Given the description of an element on the screen output the (x, y) to click on. 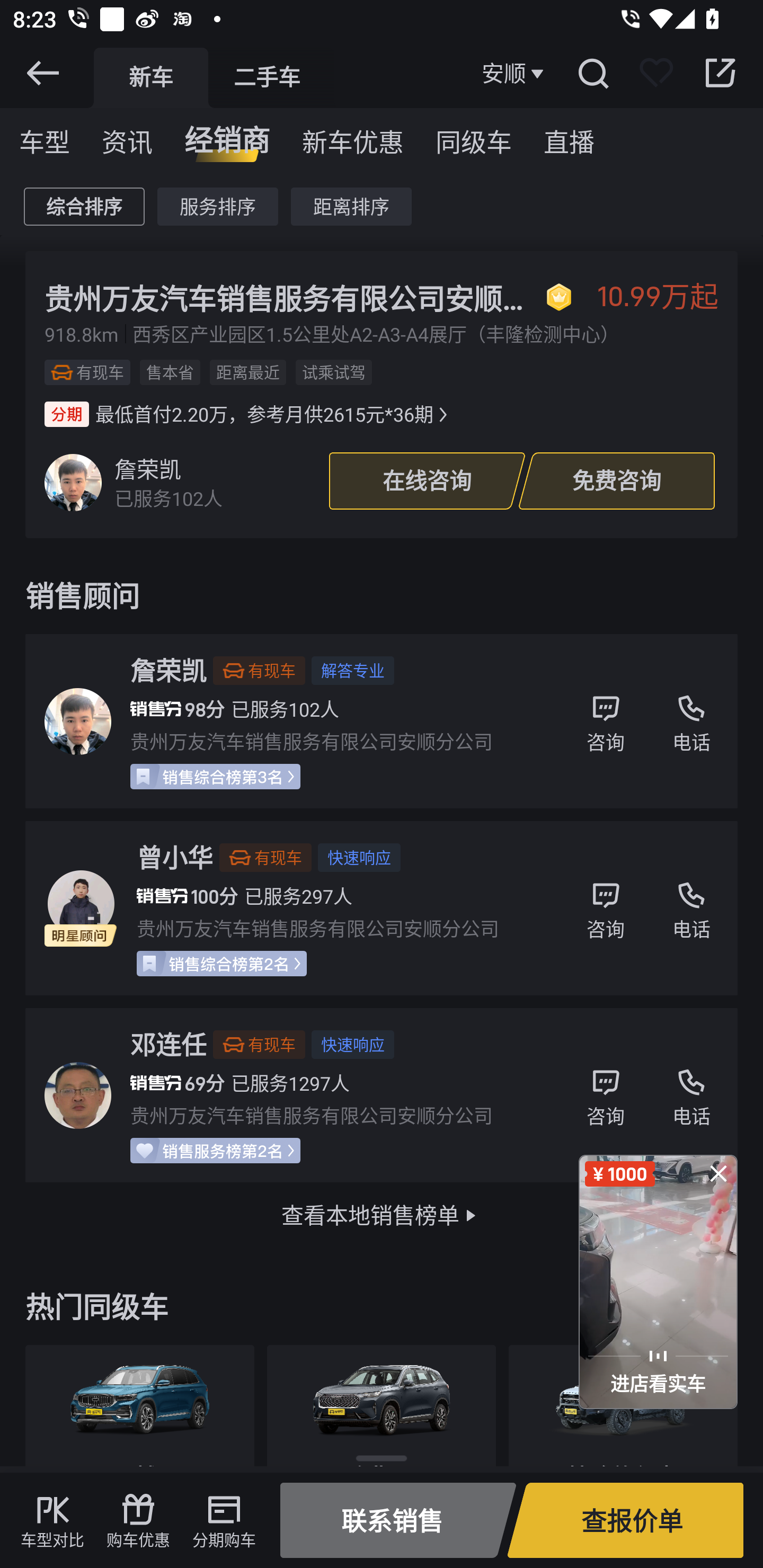
新车 (150, 77)
二手车 (266, 77)
 (42, 72)
 (592, 72)
 (720, 72)
安顺 (514, 73)
车型 (44, 135)
资讯 (126, 135)
经销商 (227, 135)
新车优惠 (352, 135)
同级车 (473, 135)
直播 (568, 135)
综合排序 (83, 206)
服务排序 (217, 206)
距离排序 (351, 206)
最低首付2.20万，参考月供2615元*36期  (248, 413)
在线咨询 (426, 481)
免费咨询 (616, 481)
詹荣凯 (168, 670)
 咨询 (605, 721)
 电话 (690, 721)
曾小华 (174, 857)
 咨询 (605, 908)
 电话 (690, 908)
邓连任 (168, 1044)
 咨询 (605, 1094)
 电话 (690, 1094)
 (718, 1173)
查看本地销售榜单 (381, 1215)
星越L (139, 1405)
哈弗H6 (381, 1405)
车型对比 (52, 1520)
购车优惠 (138, 1520)
分期购车 (224, 1520)
联系销售 (398, 1519)
查报价单 (625, 1519)
